Given the description of an element on the screen output the (x, y) to click on. 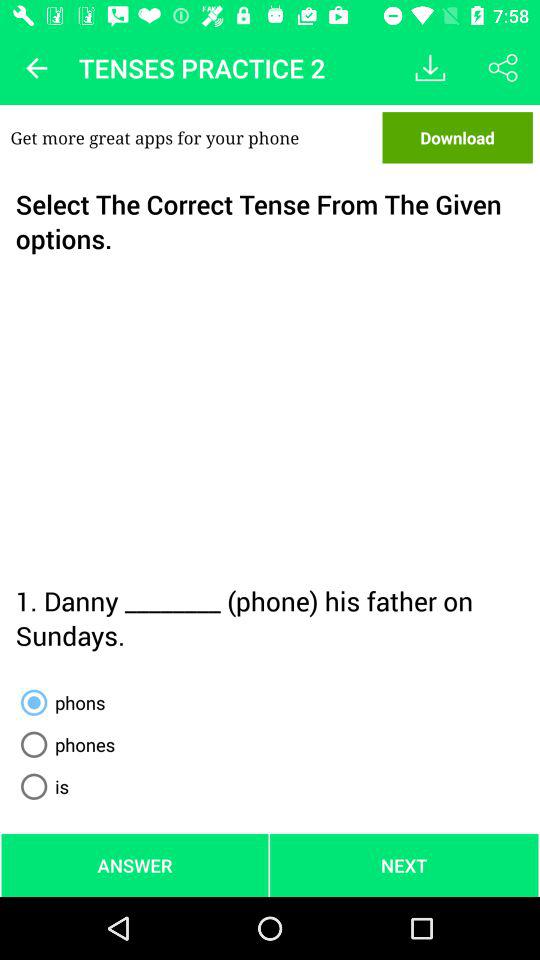
click on answer (135, 865)
